Given the description of an element on the screen output the (x, y) to click on. 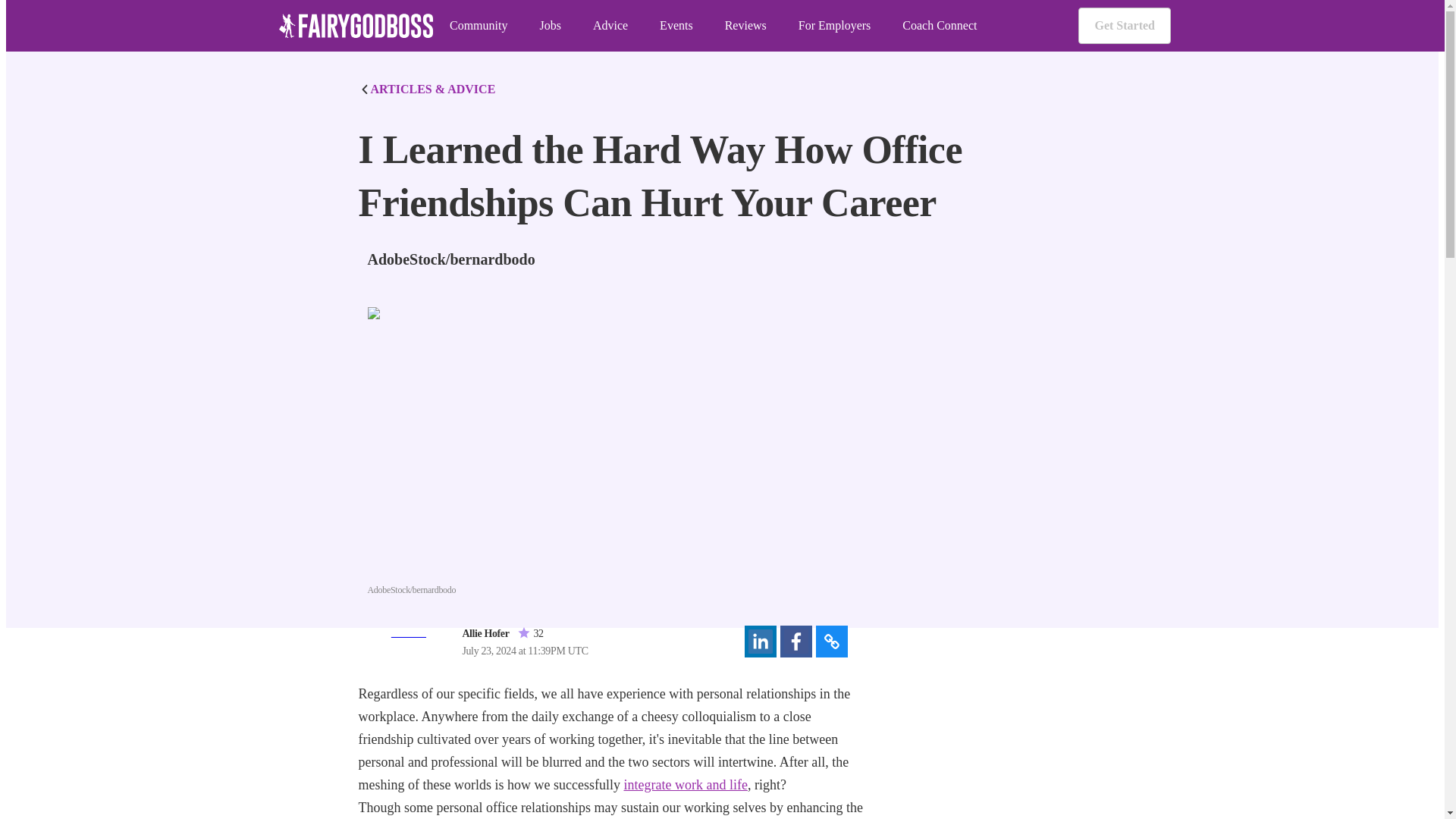
Advice (609, 25)
Coach Connect (939, 25)
For Employers (833, 25)
Events (676, 25)
integrate work and life (684, 784)
Community (477, 25)
Community (477, 25)
Events (676, 25)
For Employers (833, 25)
Jobs (549, 25)
Jobs (549, 25)
Advice (609, 25)
Reviews (746, 25)
Reviews (746, 25)
Coach Connect (939, 25)
